Given the description of an element on the screen output the (x, y) to click on. 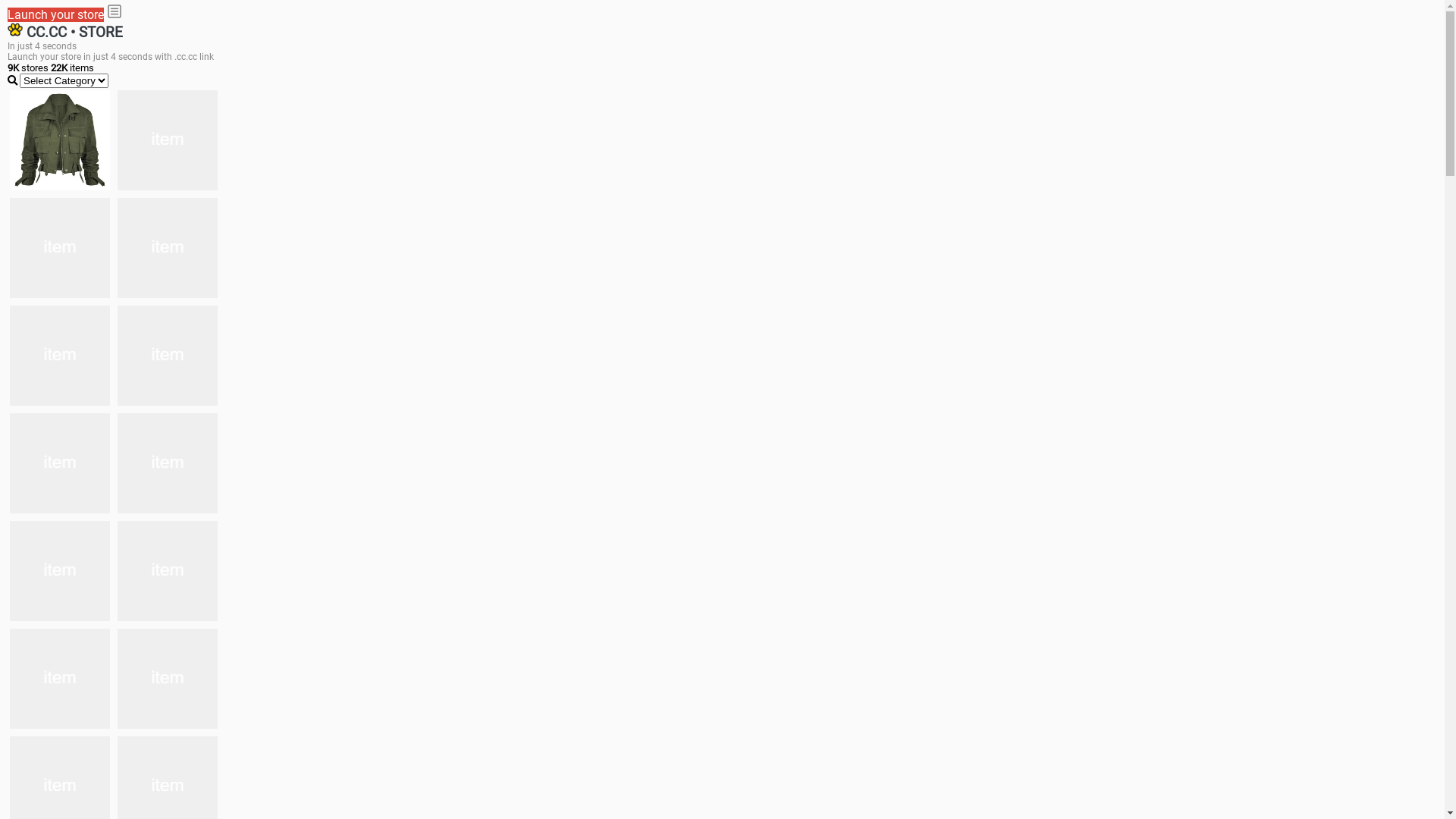
jacket Element type: hover (59, 140)
Shoes Element type: hover (167, 463)
Zapatillas pumas Element type: hover (167, 570)
Dress/square nect top Element type: hover (59, 463)
Things we need Element type: hover (59, 355)
Zapatillas Element type: hover (59, 678)
Launch your store Element type: text (55, 14)
Short pant Element type: hover (167, 678)
white shoes Element type: hover (167, 140)
Ukay cloth Element type: hover (167, 355)
shoes for boys Element type: hover (59, 247)
Shoes for boys Element type: hover (167, 247)
